Given the description of an element on the screen output the (x, y) to click on. 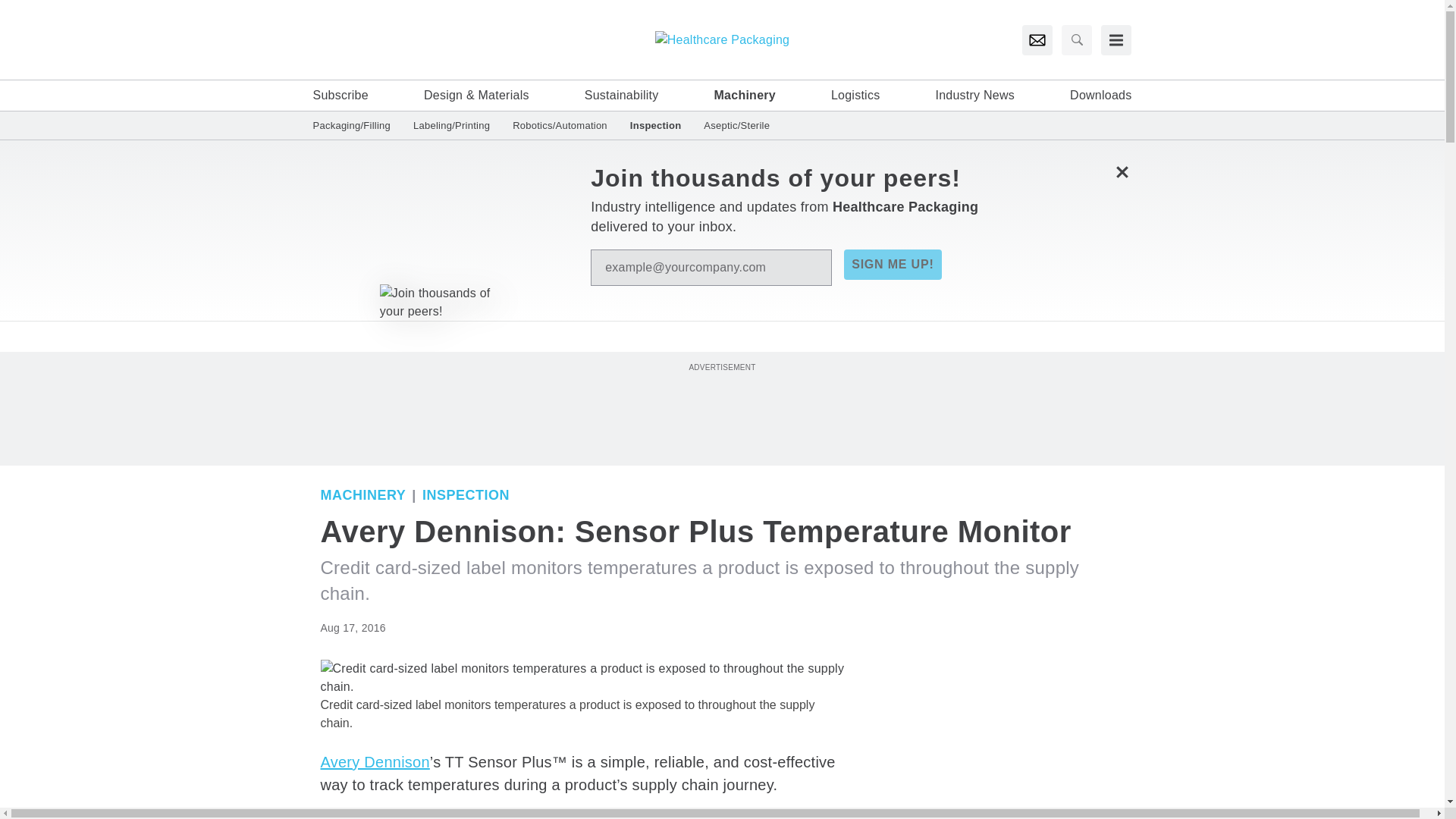
Inspection (655, 125)
Logistics (855, 95)
Downloads (1100, 95)
Industry News (974, 95)
Subscribe (340, 95)
Machinery (363, 494)
SIGN ME UP! (892, 264)
Machinery (745, 95)
Inspection (465, 494)
Sustainability (622, 95)
